Given the description of an element on the screen output the (x, y) to click on. 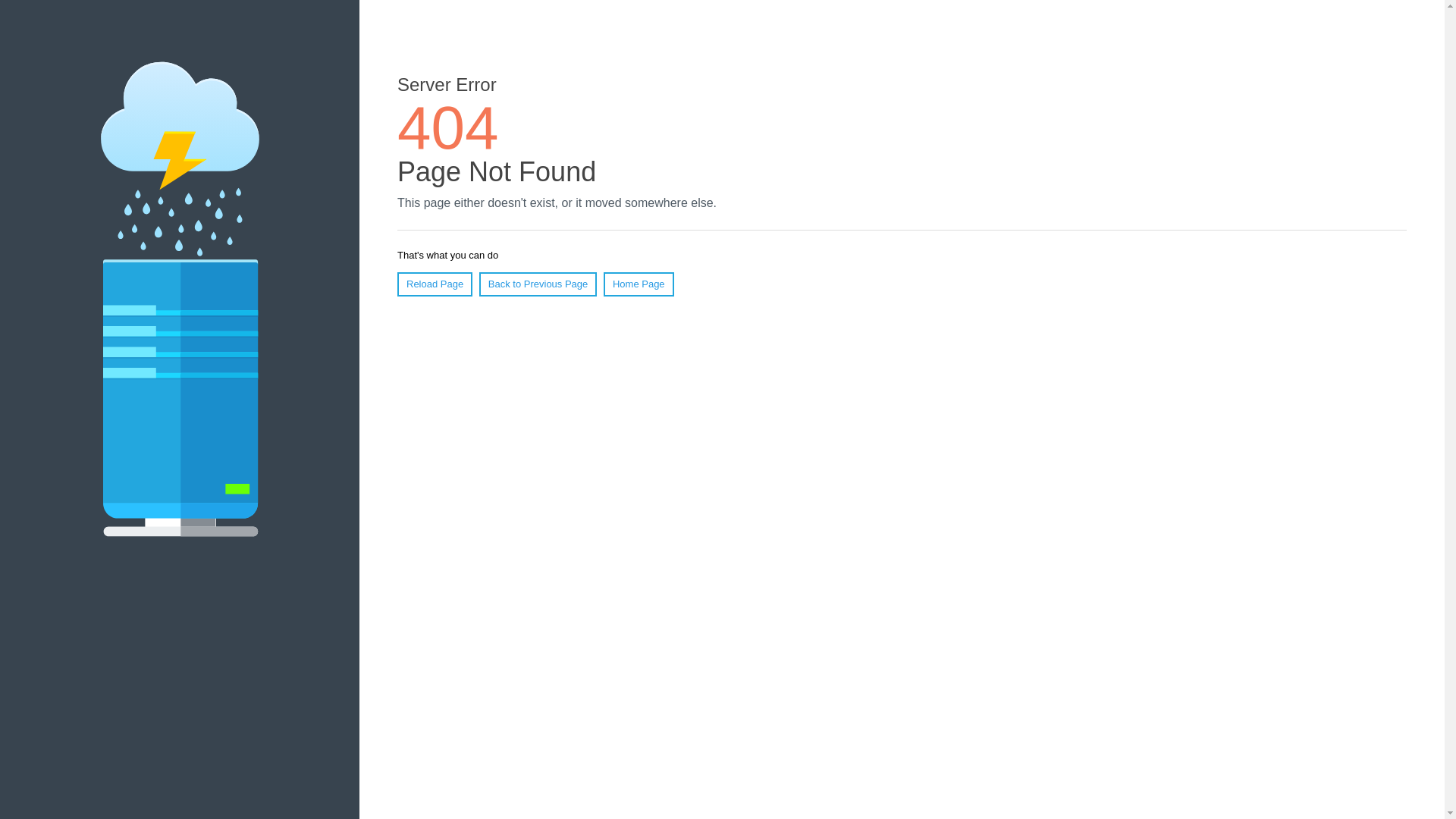
Reload Page Element type: text (434, 284)
Back to Previous Page Element type: text (538, 284)
Home Page Element type: text (638, 284)
